Given the description of an element on the screen output the (x, y) to click on. 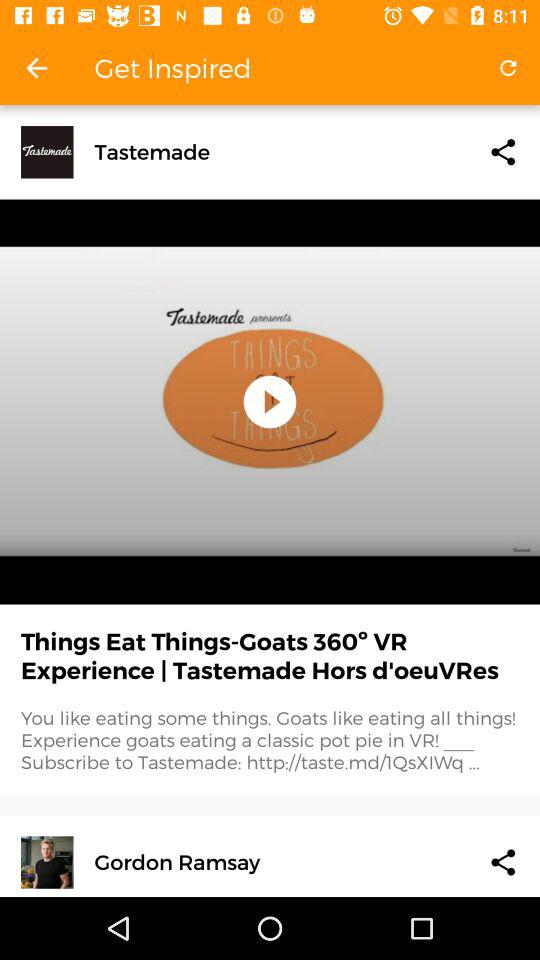
turn off the app to the right of get inspired icon (508, 67)
